Given the description of an element on the screen output the (x, y) to click on. 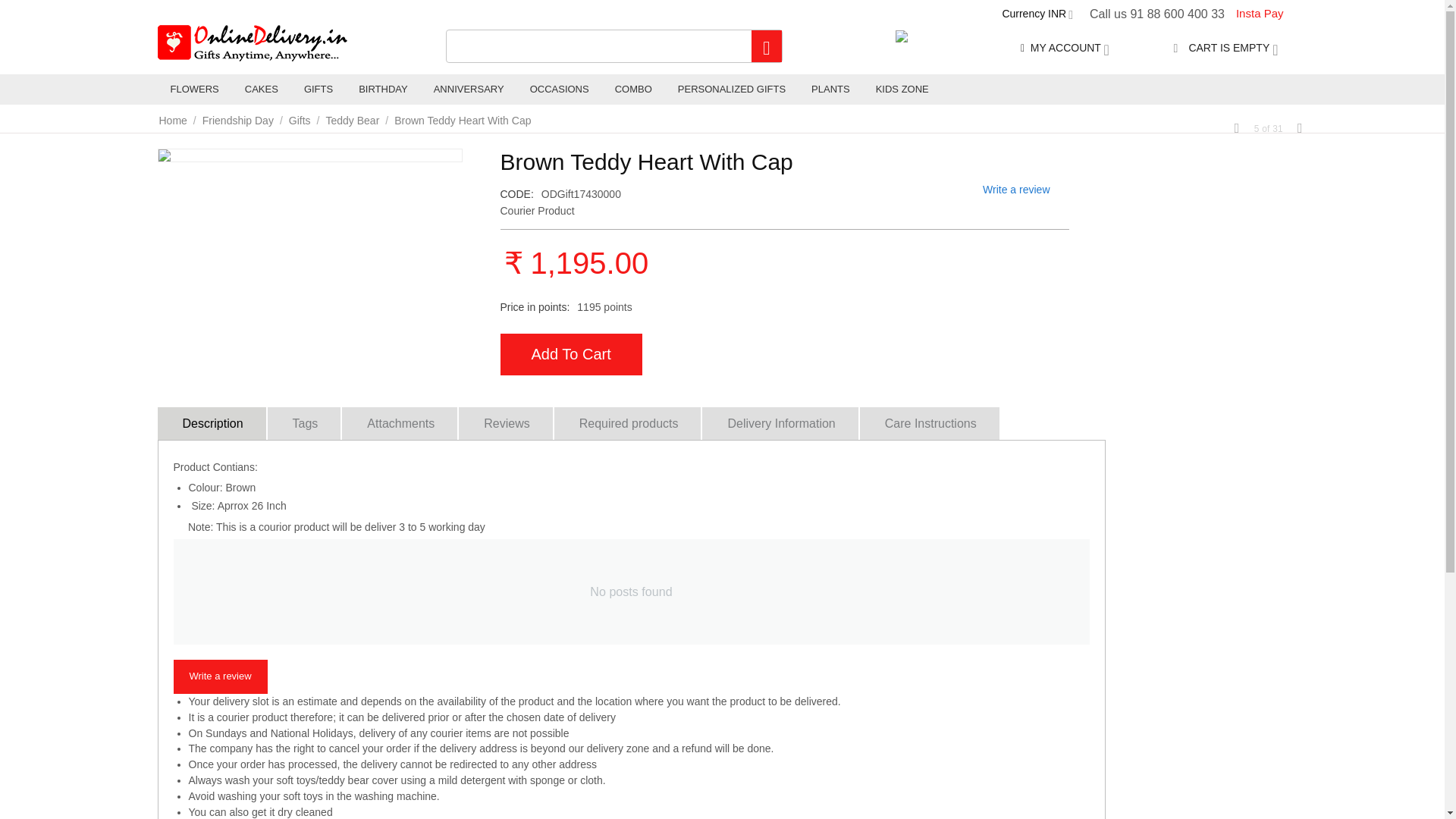
Write a review (219, 676)
Search products (614, 46)
Currency INR (1037, 13)
CART IS EMPTY (1225, 47)
  MY ACCOUNT (1064, 47)
Search (766, 46)
FLOWERS (194, 89)
Write a review (1015, 189)
Brown Teddy Heart With Cap (309, 155)
Insta Pay (1259, 13)
